Given the description of an element on the screen output the (x, y) to click on. 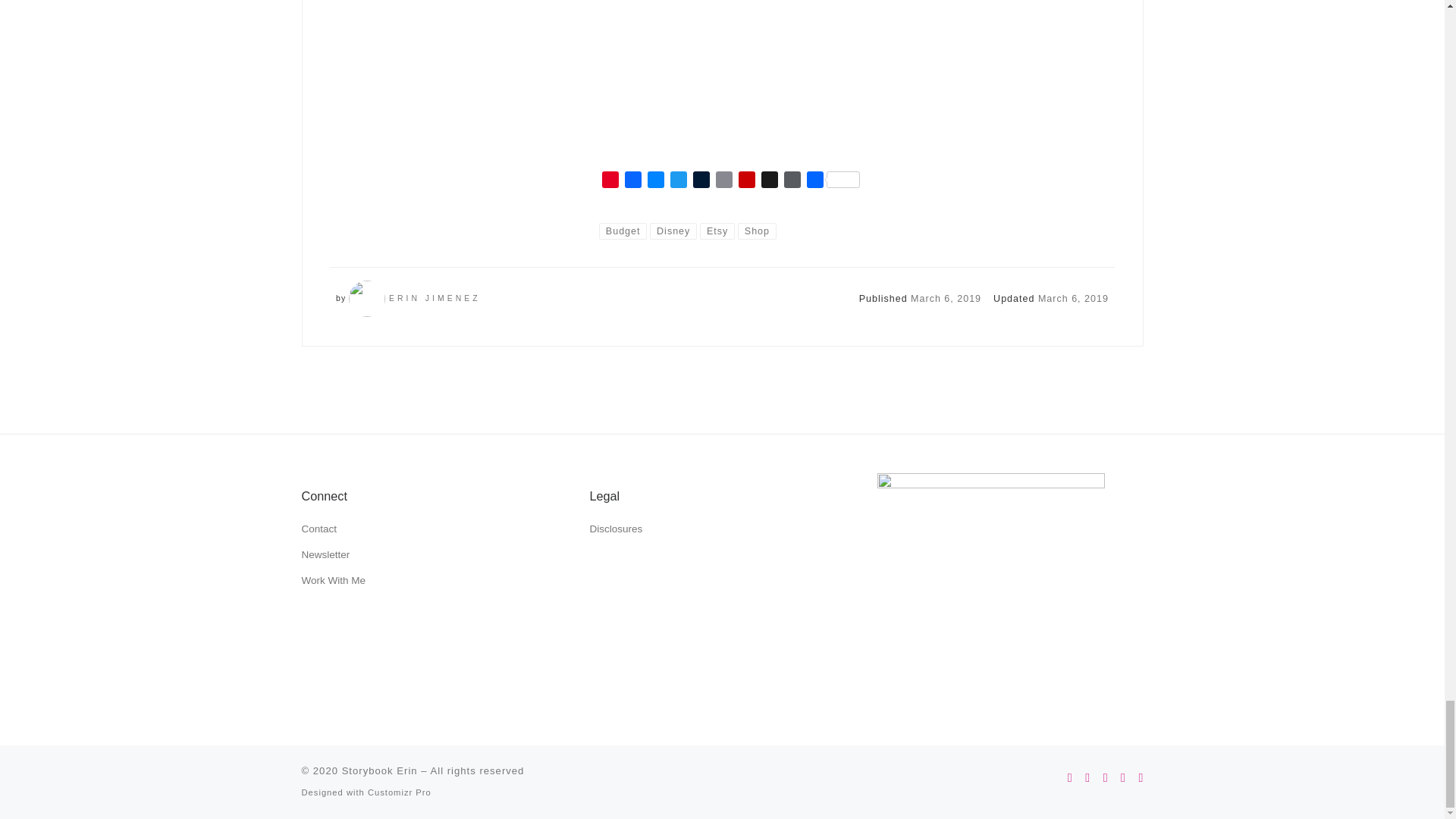
Tumblr (701, 181)
Messenger (655, 181)
Twitter (678, 181)
Facebook (633, 181)
Pinterest (609, 181)
Pinterest (609, 181)
Instapaper (769, 181)
WordPress (791, 181)
Email (724, 181)
Facebook (633, 181)
